Given the description of an element on the screen output the (x, y) to click on. 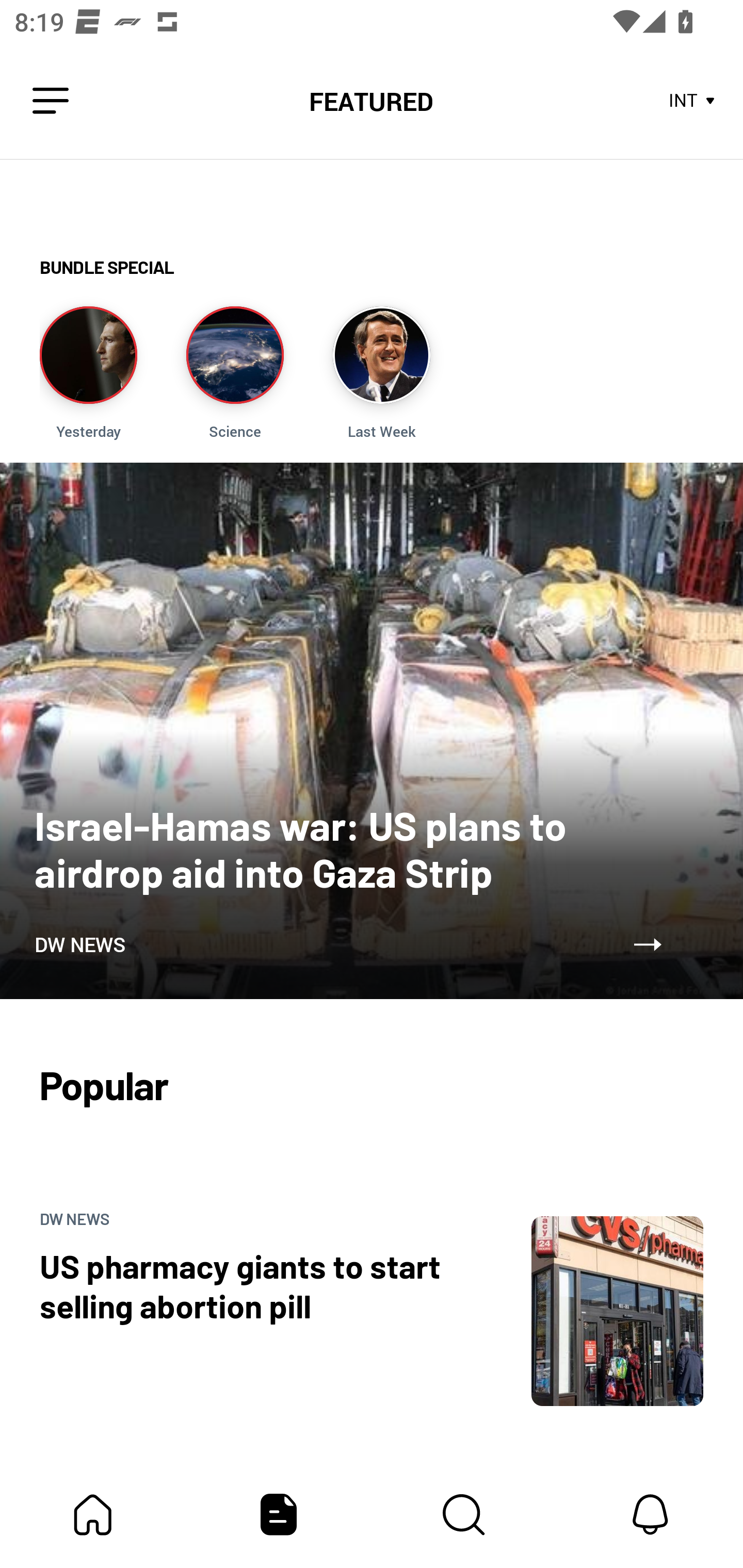
Leading Icon (50, 101)
INT Store Area (692, 101)
Story Image Yesterday (88, 372)
Story Image Science (234, 372)
Story Image Last Week (381, 372)
My Bundle (92, 1514)
Content Store (464, 1514)
Notifications (650, 1514)
